Given the description of an element on the screen output the (x, y) to click on. 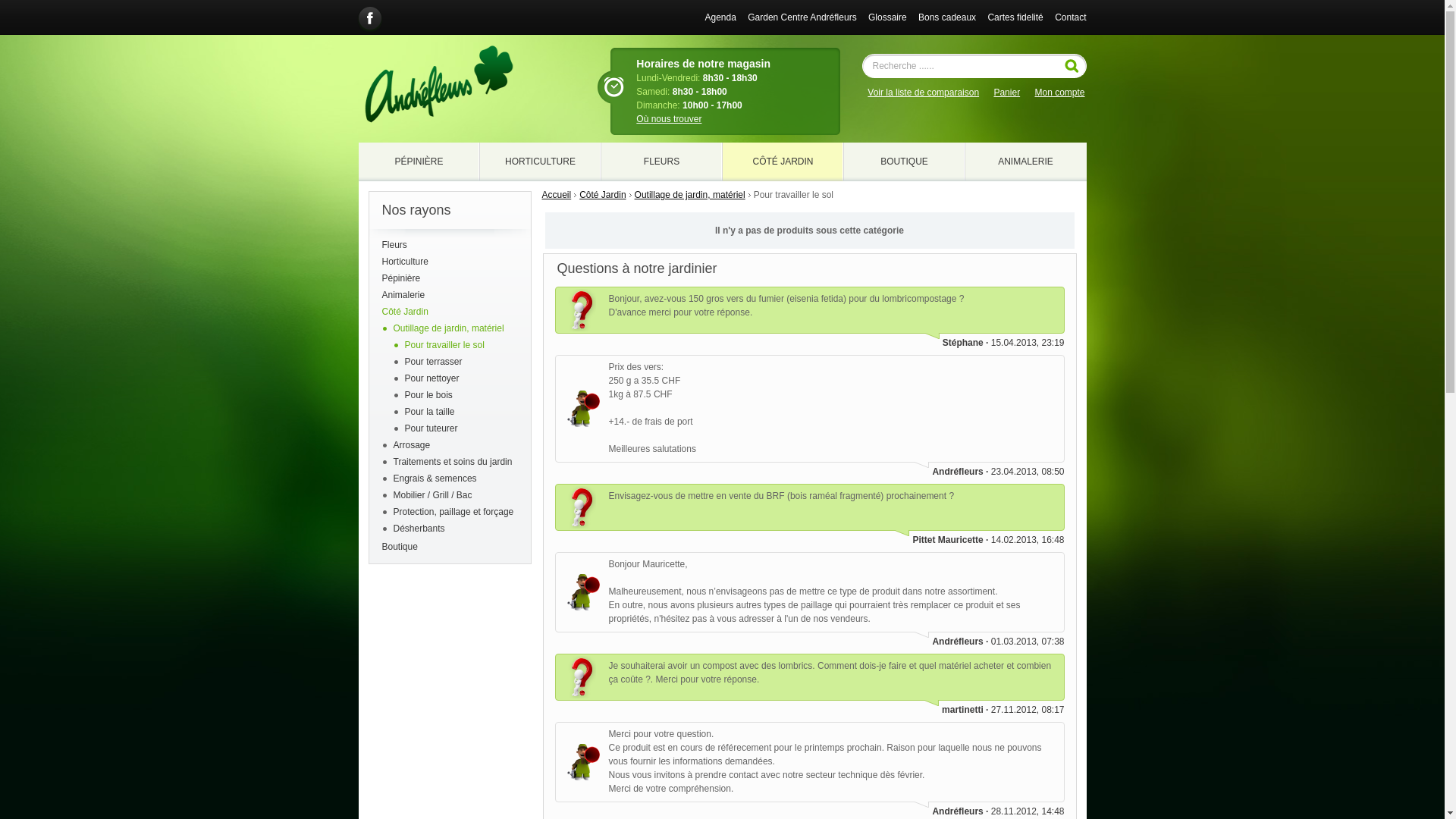
ANIMALERIE Element type: text (1024, 161)
Arrosage Element type: text (410, 444)
Animalerie Element type: text (449, 294)
Contact Element type: text (1069, 17)
Engrais & semences Element type: text (434, 478)
Glossaire Element type: text (887, 17)
Pour nettoyer Element type: text (431, 378)
Pour le bois Element type: text (428, 394)
Fleurs Element type: text (449, 244)
Pour la taille Element type: text (429, 411)
Pour tuteurer Element type: text (431, 428)
Traitements et soins du jardin Element type: text (451, 461)
Voir la liste de comparaison Element type: text (923, 92)
FLEURS Element type: text (660, 161)
Mon compte Element type: text (1059, 92)
Mobilier / Grill / Bac Element type: text (431, 494)
Pour terrasser Element type: text (433, 361)
Boutique Element type: text (449, 546)
HORTICULTURE Element type: text (539, 161)
Agenda Element type: text (720, 17)
Pour travailler le sol Element type: text (444, 344)
BOUTIQUE Element type: text (903, 161)
Bons cadeaux Element type: text (946, 17)
Recherche ... Element type: hover (1071, 65)
Horticulture Element type: text (449, 261)
Accueil Element type: text (556, 194)
Panier Element type: text (1006, 92)
